Given the description of an element on the screen output the (x, y) to click on. 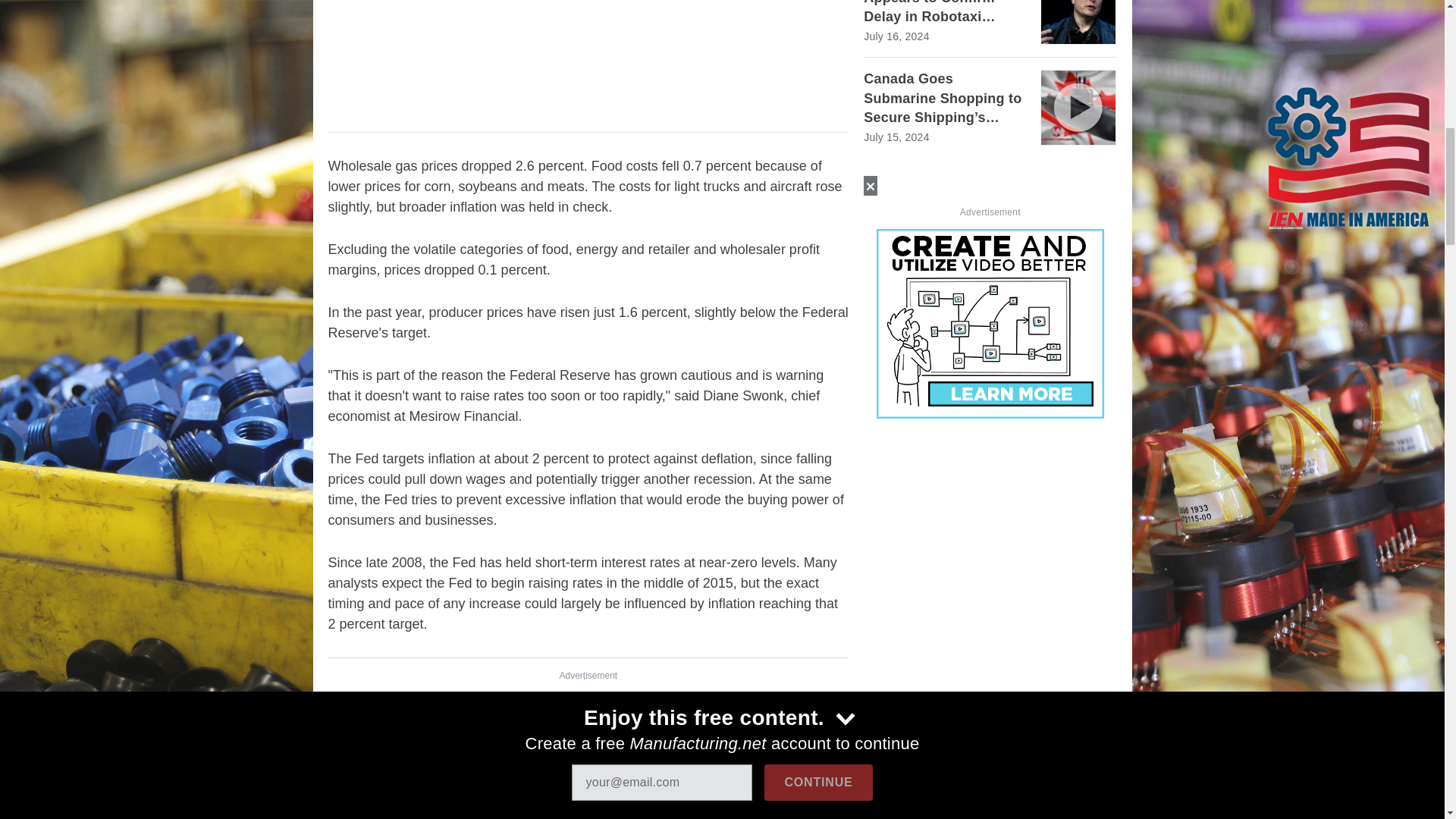
3rd party ad content (587, 53)
